Given the description of an element on the screen output the (x, y) to click on. 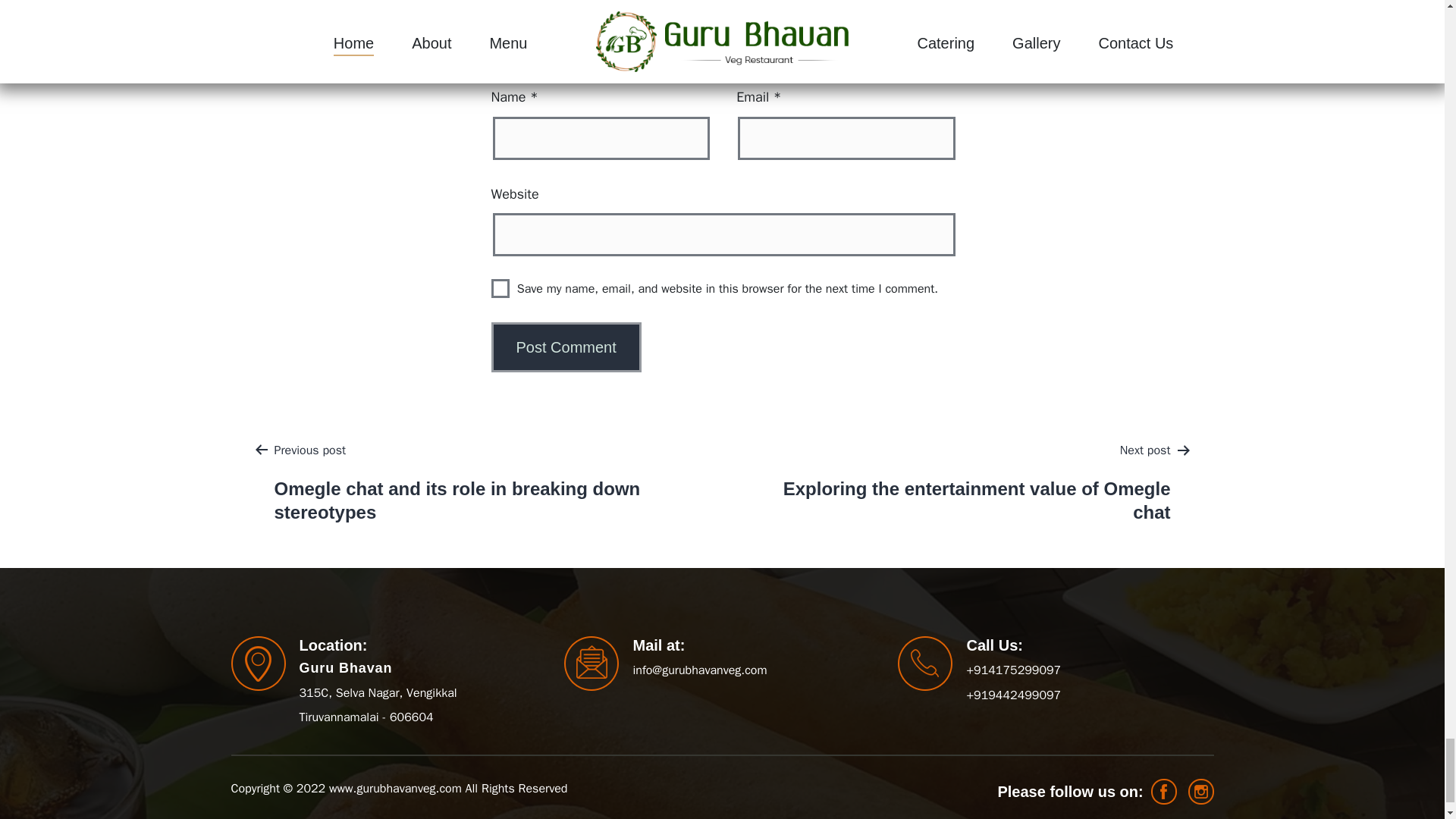
Post Comment (567, 347)
Post Comment (567, 347)
yes (500, 288)
